Given the description of an element on the screen output the (x, y) to click on. 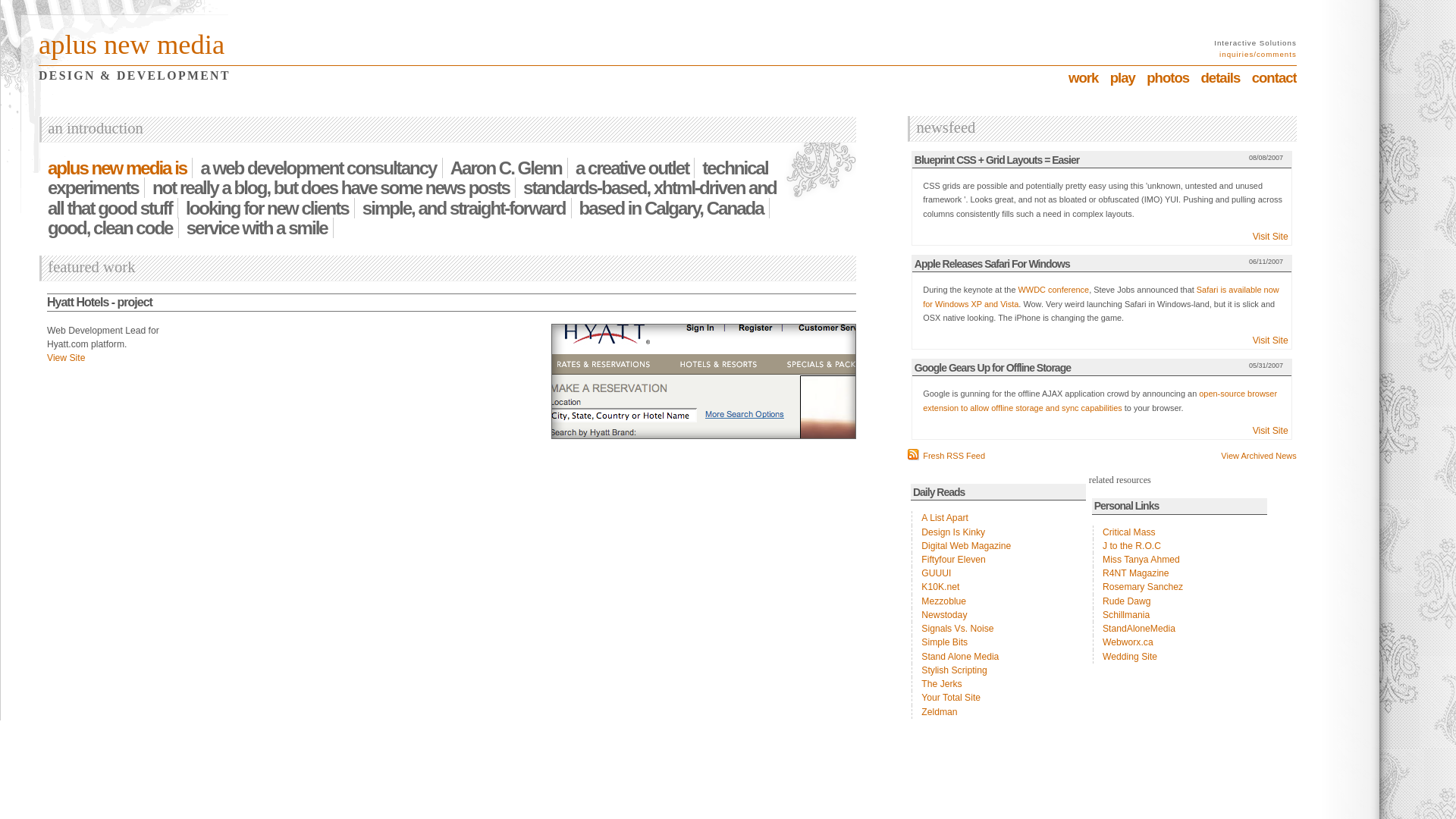
Visit Site Element type: text (1101, 340)
Newstoday Element type: text (998, 614)
Design Is Kinky Element type: text (998, 532)
work Element type: text (1083, 77)
J to the R.O.C Element type: text (1179, 545)
Signals Vs. Noise Element type: text (998, 628)
Rosemary Sanchez Element type: text (1179, 586)
Rude Dawg Element type: text (1179, 601)
K10K.net Element type: text (998, 586)
Mezzoblue Element type: text (998, 601)
Miss Tanya Ahmed Element type: text (1179, 559)
Safari is available now for Windows XP and Vista Element type: text (1100, 296)
details Element type: text (1219, 77)
A List Apart Element type: text (998, 517)
Google Gears Up for Offline Storage Element type: text (992, 367)
aplus new media Element type: text (131, 43)
Visit Site Element type: text (1101, 236)
GUUUI Element type: text (998, 573)
Digital Web Magazine Element type: text (998, 545)
Fiftyfour Eleven Element type: text (998, 559)
Fresh RSS Feed Element type: text (946, 455)
View Site Element type: text (65, 357)
Zeldman Element type: text (998, 711)
Stylish Scripting Element type: text (998, 670)
Schillmania Element type: text (1179, 614)
Simple Bits Element type: text (998, 642)
inquiries/comments Element type: text (1257, 54)
Wedding Site Element type: text (1179, 656)
Webworx.ca Element type: text (1179, 642)
Blueprint CSS + Grid Layouts = Easier Element type: text (996, 159)
View Archived News Element type: text (1257, 454)
Critical Mass Element type: text (1179, 532)
contact Element type: text (1274, 77)
The Jerks Element type: text (998, 683)
Visit Site Element type: text (1101, 430)
Apple Releases Safari For Windows Element type: text (992, 263)
StandAloneMedia Element type: text (1179, 628)
WWDC conference Element type: text (1053, 289)
photos Element type: text (1167, 77)
play Element type: text (1122, 77)
Your Total Site Element type: text (998, 697)
R4NT Magazine Element type: text (1179, 573)
Stand Alone Media Element type: text (998, 656)
